Given the description of an element on the screen output the (x, y) to click on. 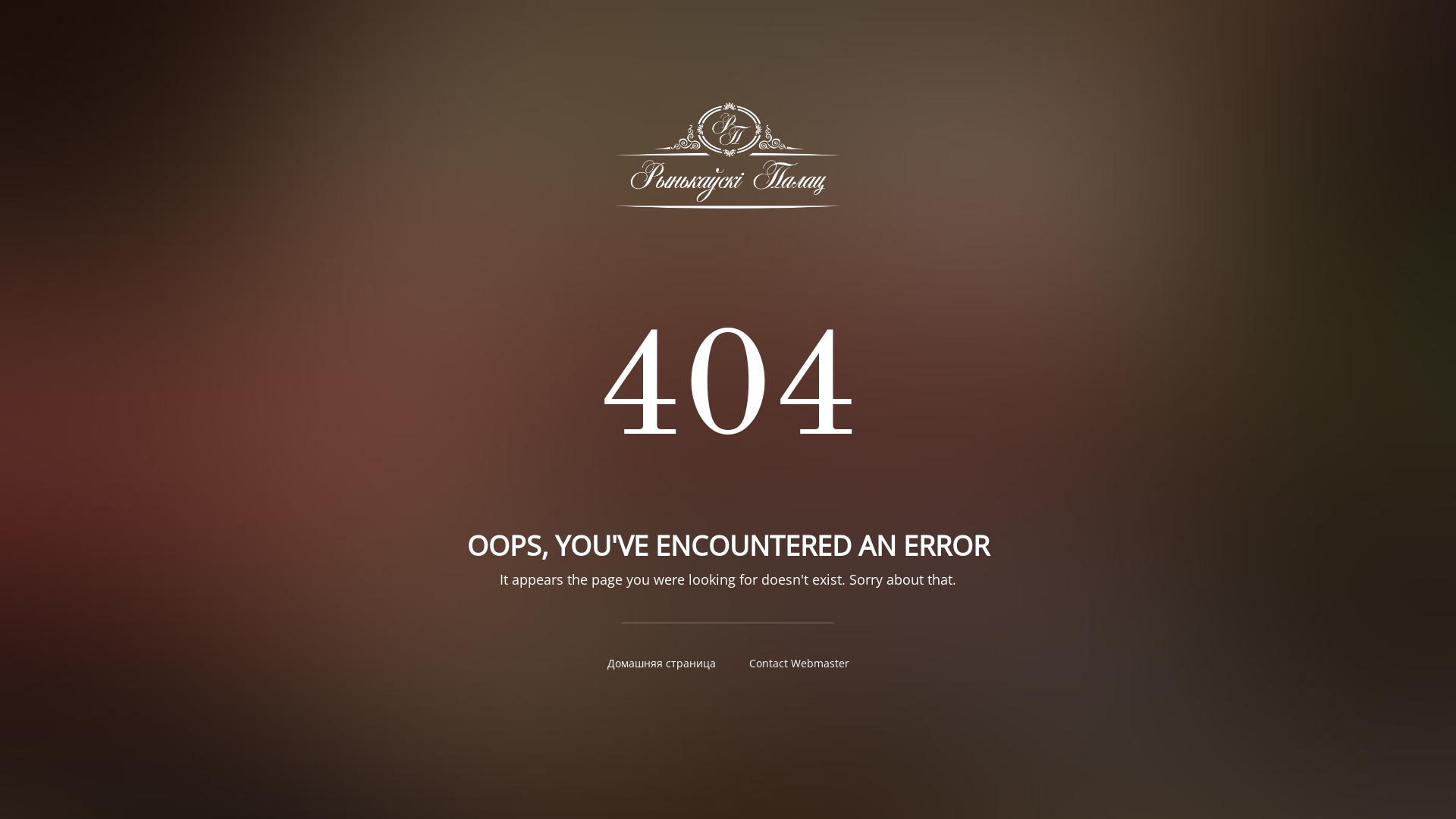
Contact Webmaster Element type: text (799, 662)
